Given the description of an element on the screen output the (x, y) to click on. 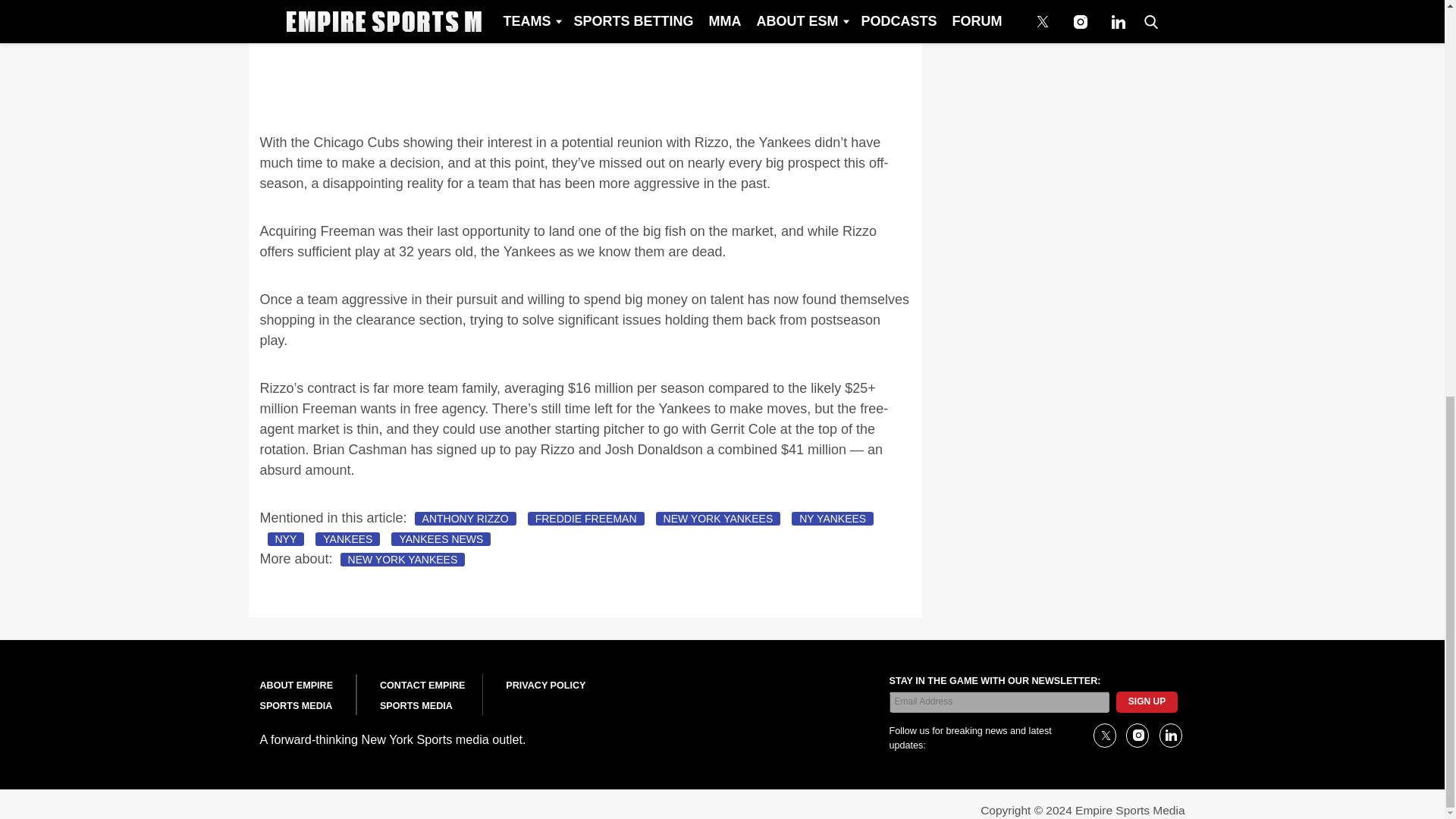
NEW YORK YANKEES (402, 559)
ANTHONY RIZZO (465, 518)
Follow us on Instagram (1136, 735)
NEW YORK YANKEES (718, 518)
Follow us on Twitter (1104, 735)
ABOUT EMPIRE SPORTS MEDIA (296, 695)
Connect with us on LinkedIn (1169, 735)
NYY (285, 539)
YANKEES NEWS (440, 539)
YANKEES (347, 539)
